Given the description of an element on the screen output the (x, y) to click on. 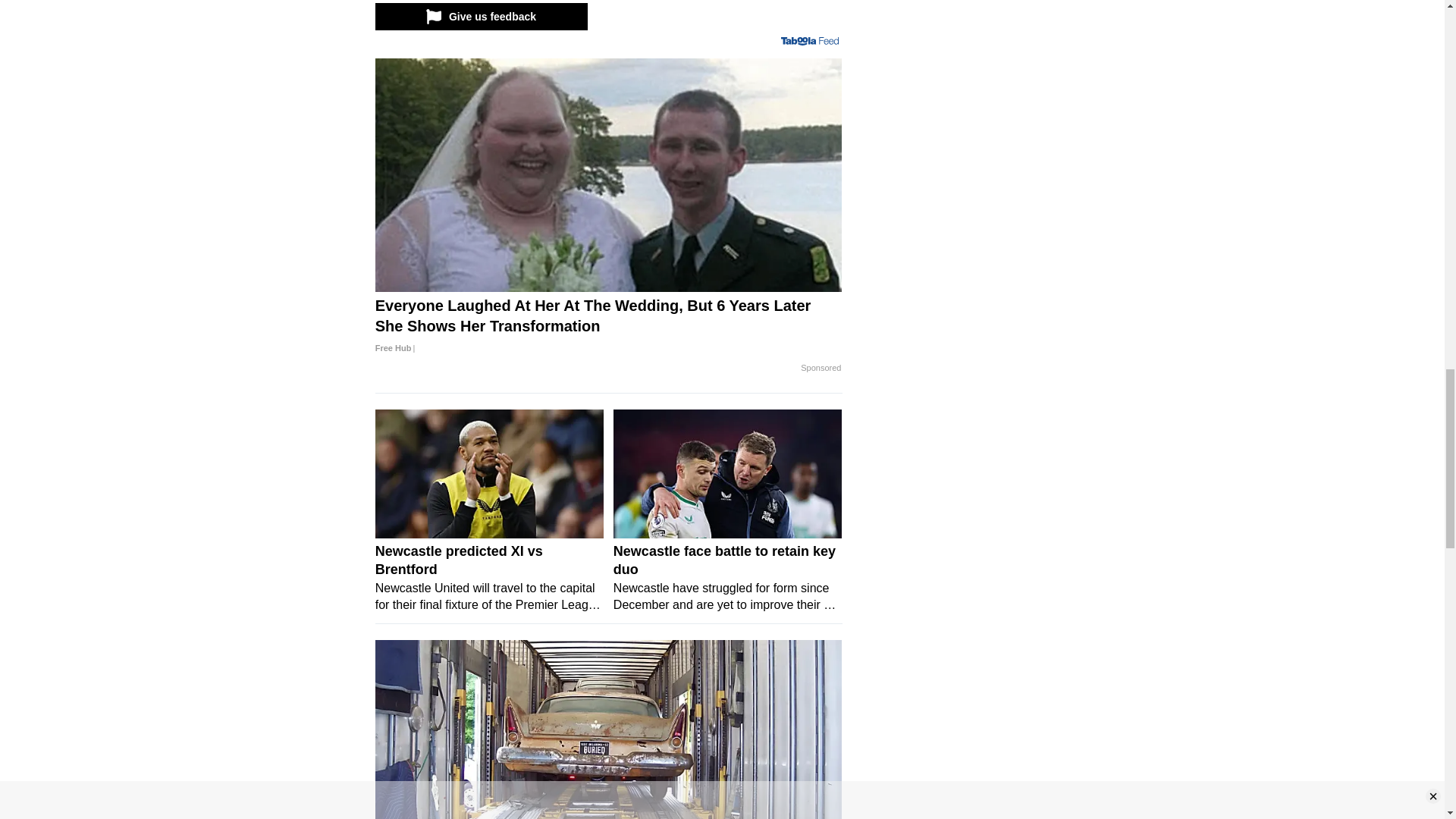
Sponsored (820, 368)
Give us feedback (480, 16)
Newcastle predicted XI vs Brentford (489, 473)
Newcastle face battle to retain key duo (727, 473)
Newcastle face battle to retain key duo (727, 577)
Newcastle predicted XI vs Brentford (489, 577)
